Given the description of an element on the screen output the (x, y) to click on. 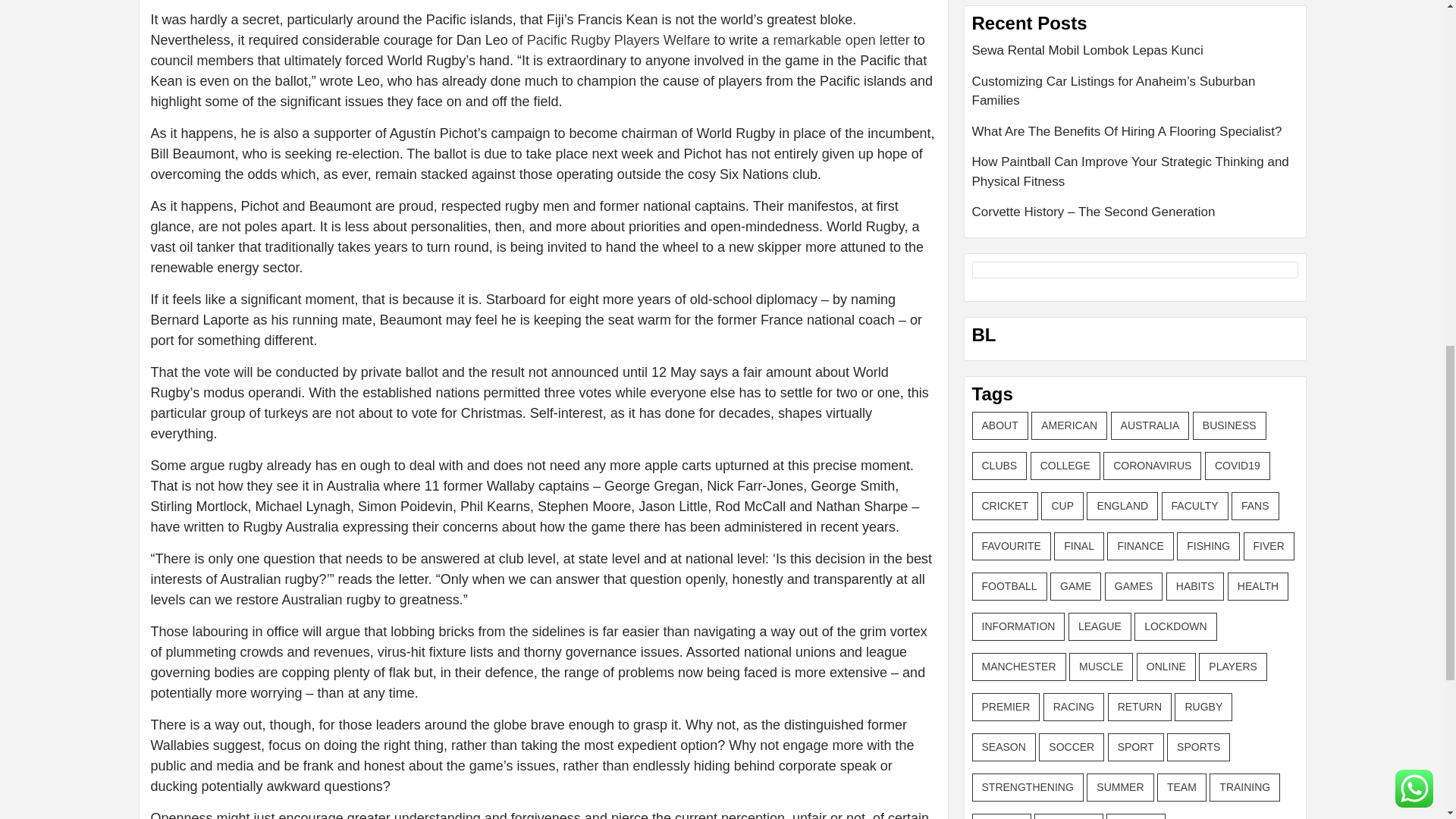
Sewa Rental Mobil Lombok Lepas Kunci (1135, 56)
AMERICAN (1068, 425)
remarkable open letter (841, 39)
of Pacific Rugby Players Welfare (611, 39)
ABOUT (999, 425)
What Are The Benefits Of Hiring A Flooring Specialist? (1135, 137)
